Given the description of an element on the screen output the (x, y) to click on. 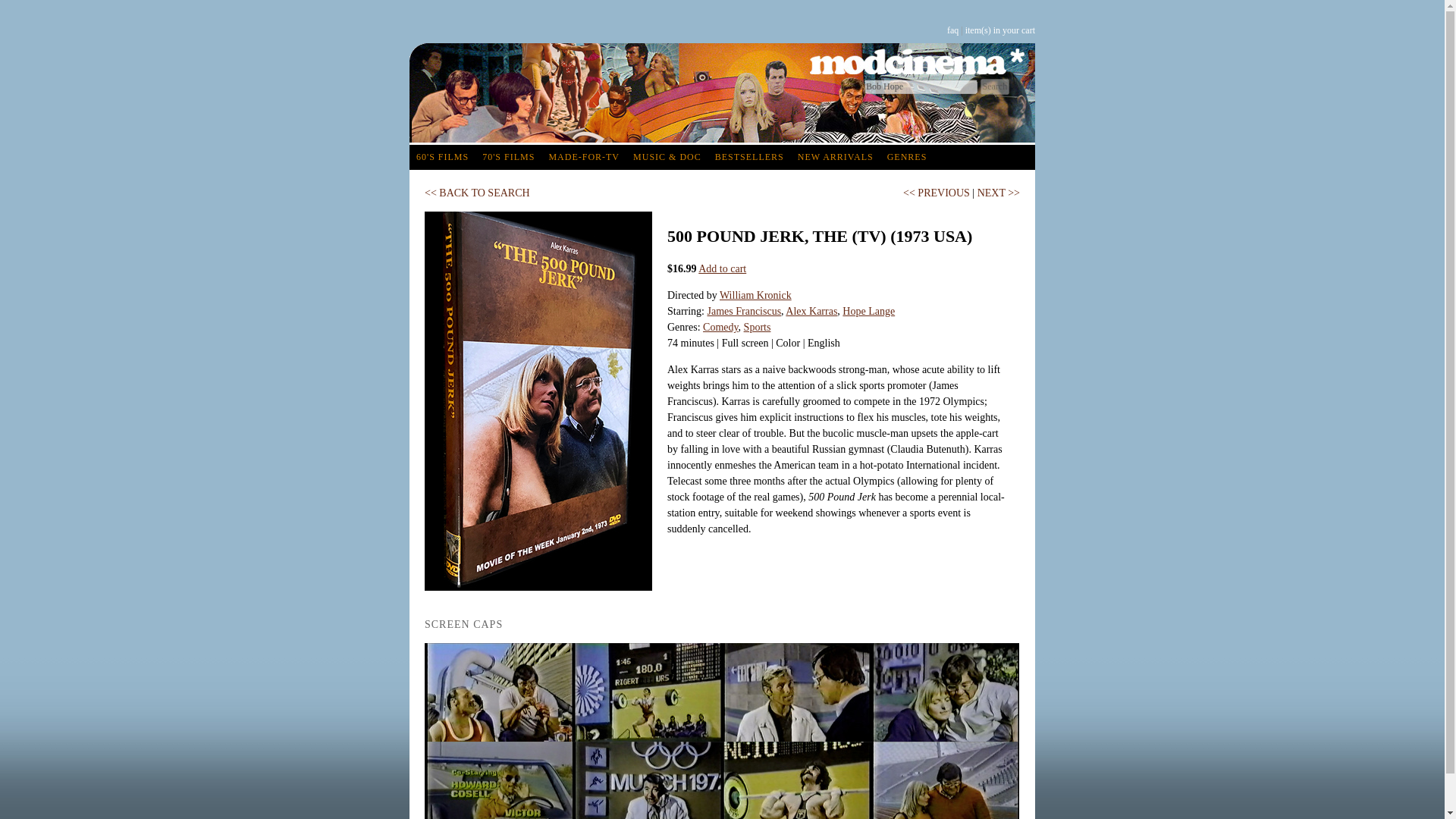
70'S FILMS (508, 156)
Search (994, 86)
Search (994, 86)
Sports (757, 326)
Alex Karras (811, 310)
GENRES (907, 156)
James Franciscus (743, 310)
faq (952, 30)
Bob Hope (920, 86)
Comedy (720, 326)
NEW ARRIVALS (835, 156)
Add to cart (721, 268)
60'S FILMS (442, 156)
Hope Lange (869, 310)
BESTSELLERS (748, 156)
